Given the description of an element on the screen output the (x, y) to click on. 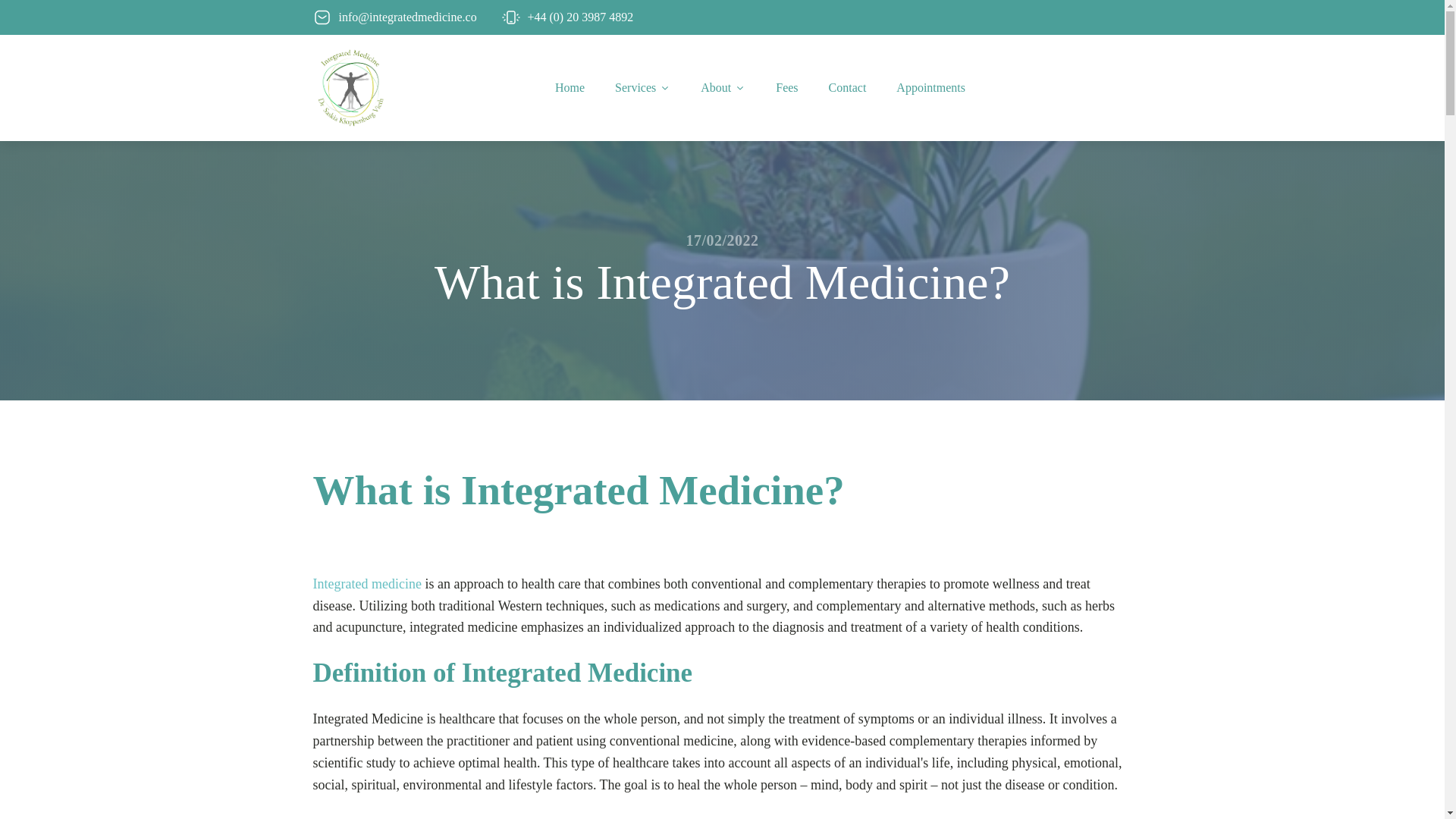
About (722, 87)
Home (569, 87)
Services (642, 87)
